Given the description of an element on the screen output the (x, y) to click on. 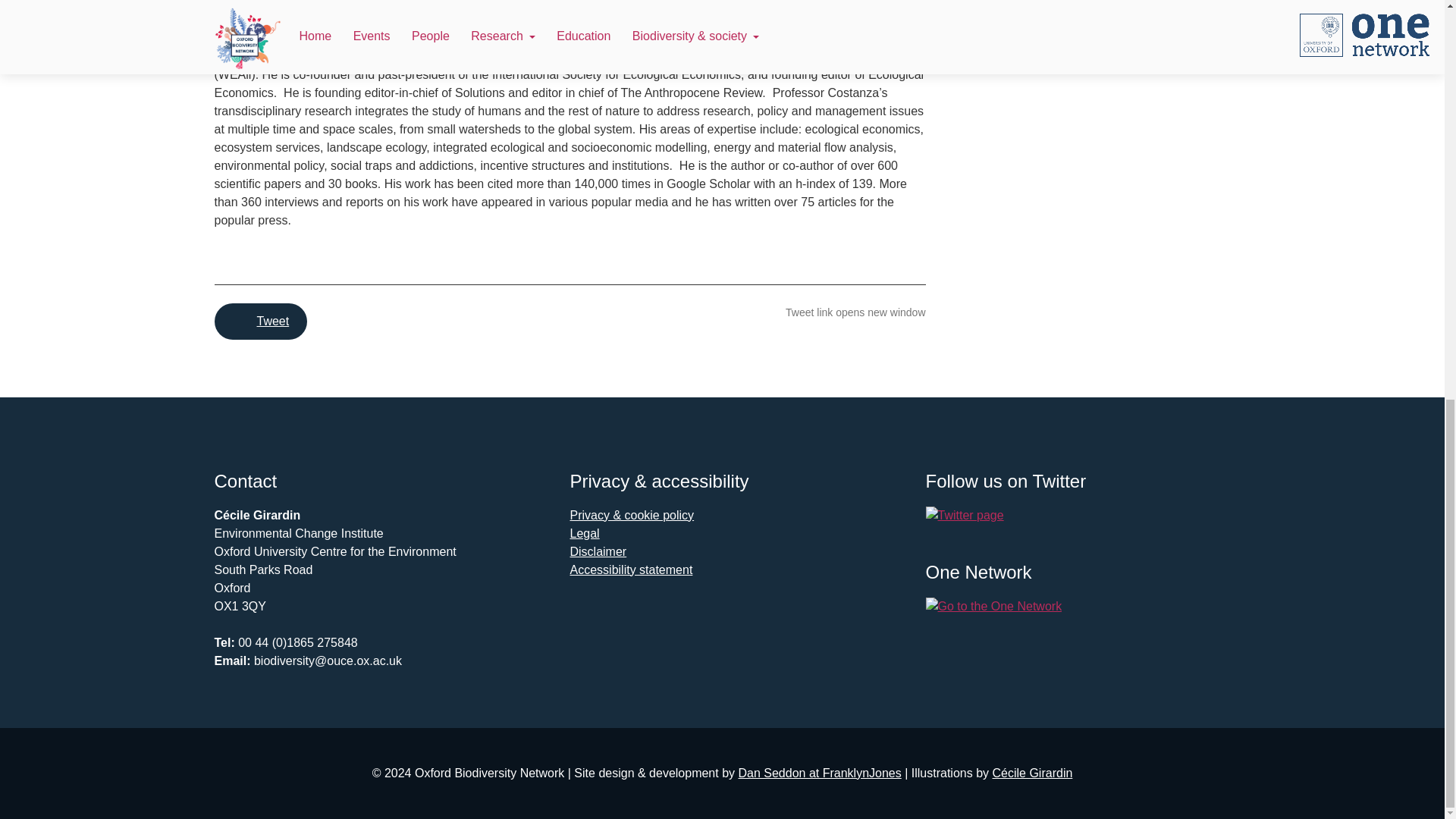
Tweet (260, 321)
Disclaimer (598, 550)
Accessibility statement (631, 568)
Legal (584, 532)
Dan Seddon at FranklynJones (819, 771)
